Given the description of an element on the screen output the (x, y) to click on. 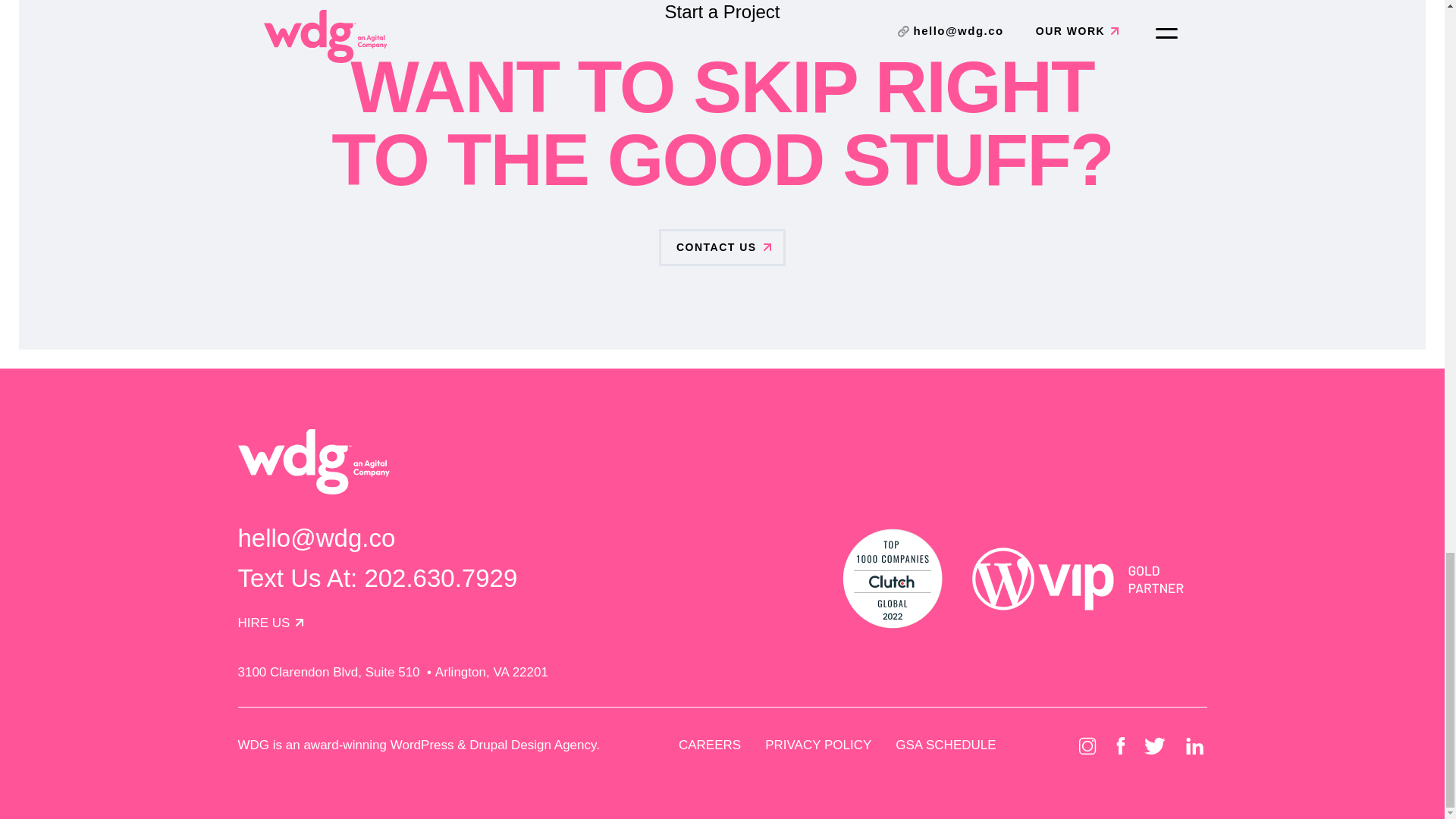
WDG an Agital Company (314, 461)
